Given the description of an element on the screen output the (x, y) to click on. 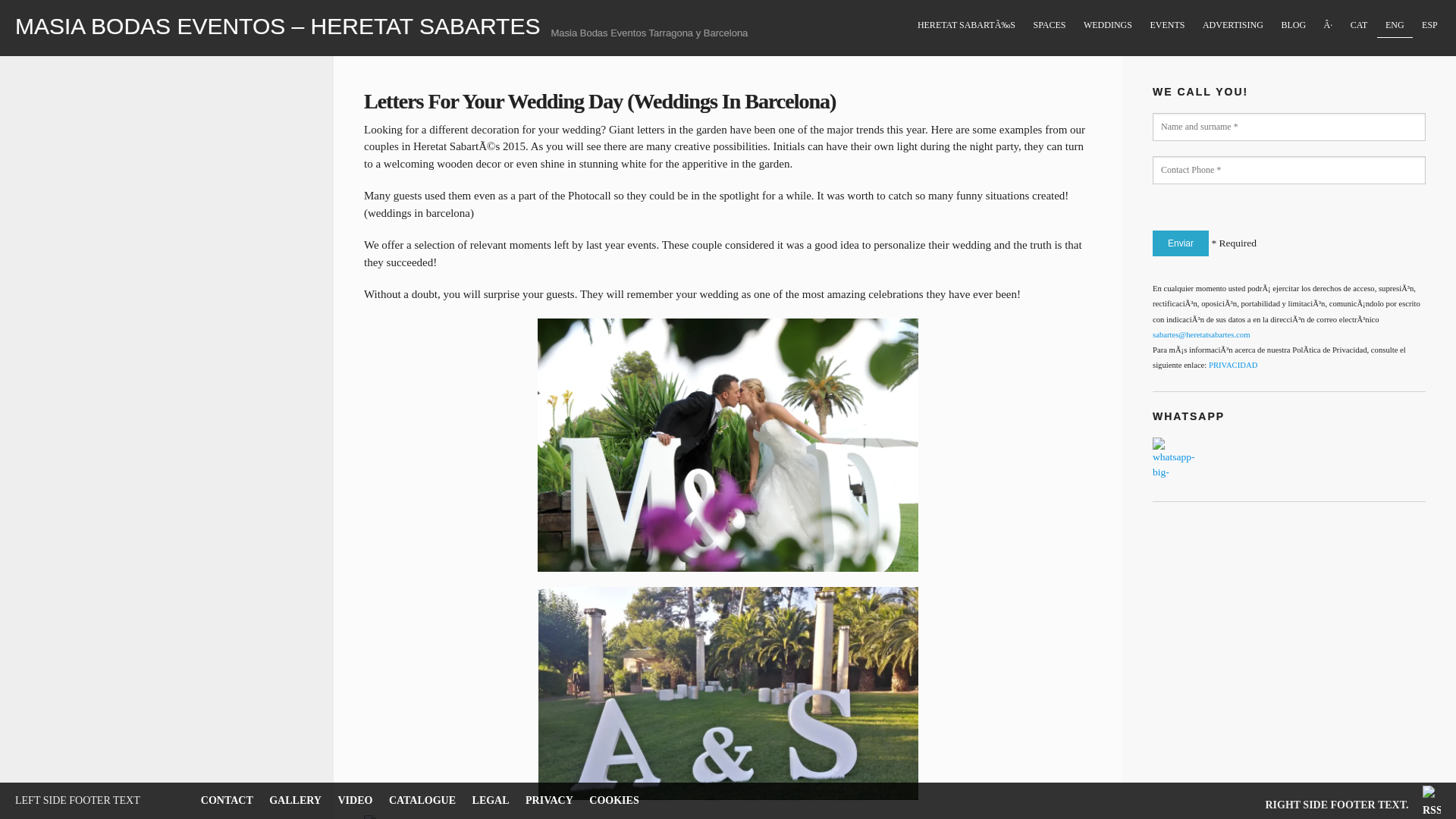
ENG (1394, 24)
CAT (1357, 24)
PRIVACIDAD (1232, 365)
EVENTS (1167, 25)
ADVERTISING (1232, 24)
WEDDINGS (1108, 25)
ESP (1429, 24)
ADVERTISING (1232, 25)
SPACES (1049, 24)
WEDDINGS (1108, 24)
